Given the description of an element on the screen output the (x, y) to click on. 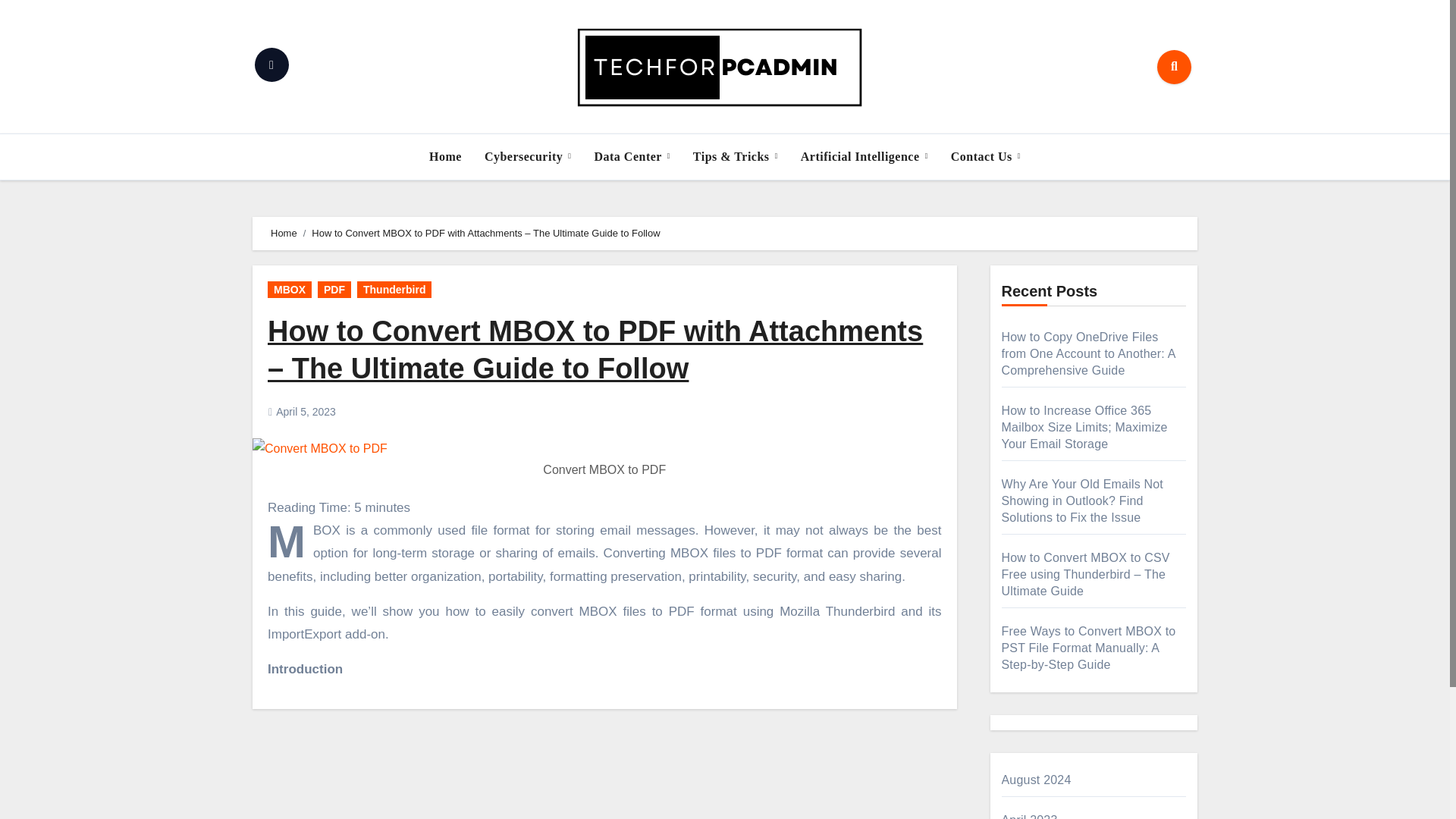
Home (445, 156)
Artificial Intelligence (864, 156)
Home (445, 156)
Data Center (631, 156)
PDF (333, 289)
Data Center (631, 156)
MBOX (289, 289)
April 5, 2023 (306, 411)
Thunderbird (393, 289)
Home (283, 233)
